Given the description of an element on the screen output the (x, y) to click on. 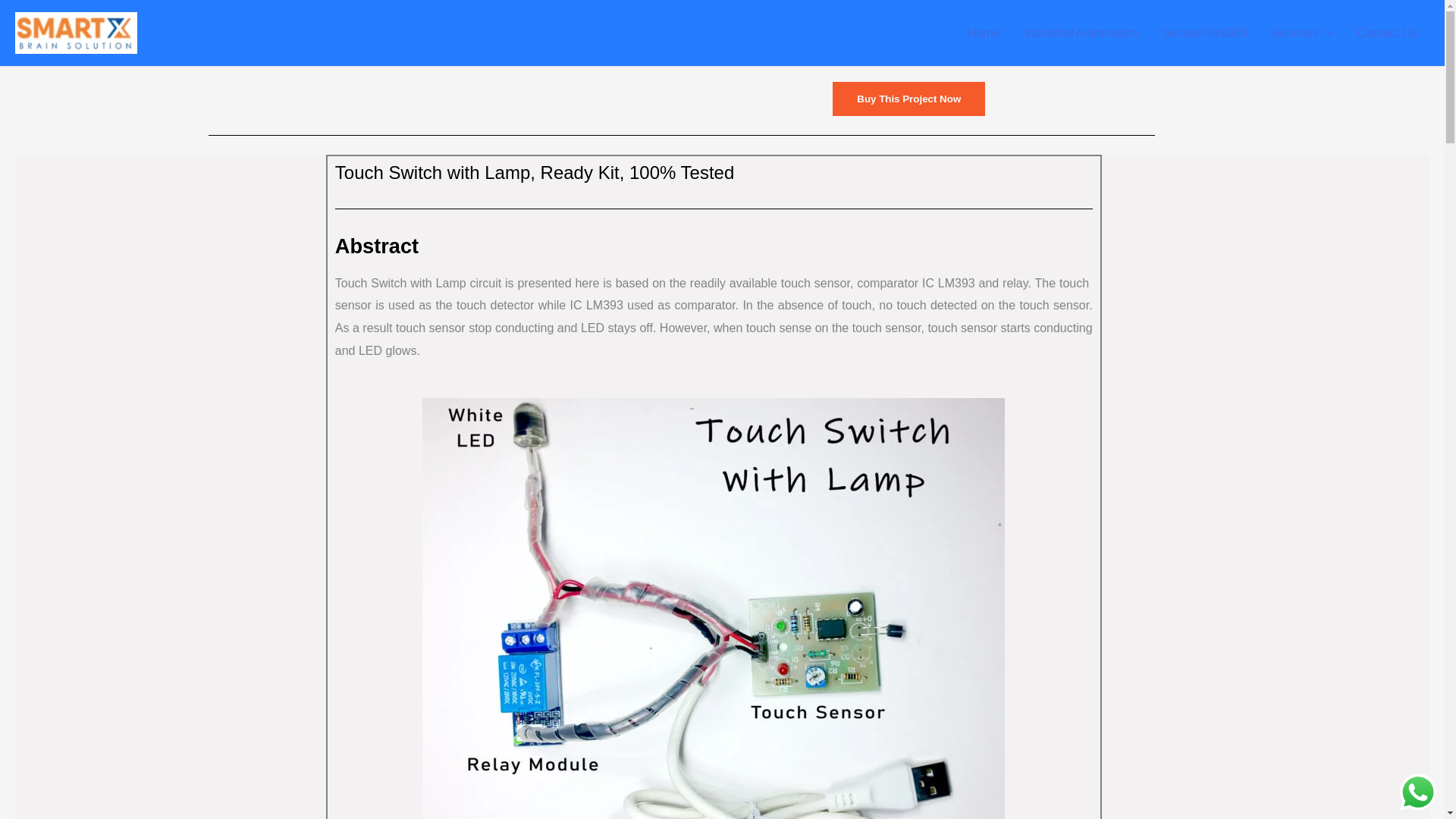
Home (983, 33)
Services (1302, 33)
Buy This Project Now (908, 98)
SecurePack360 (1204, 33)
Industrial Automation (1080, 33)
Contact Us (1387, 33)
WhatsApp us (1418, 792)
